Given the description of an element on the screen output the (x, y) to click on. 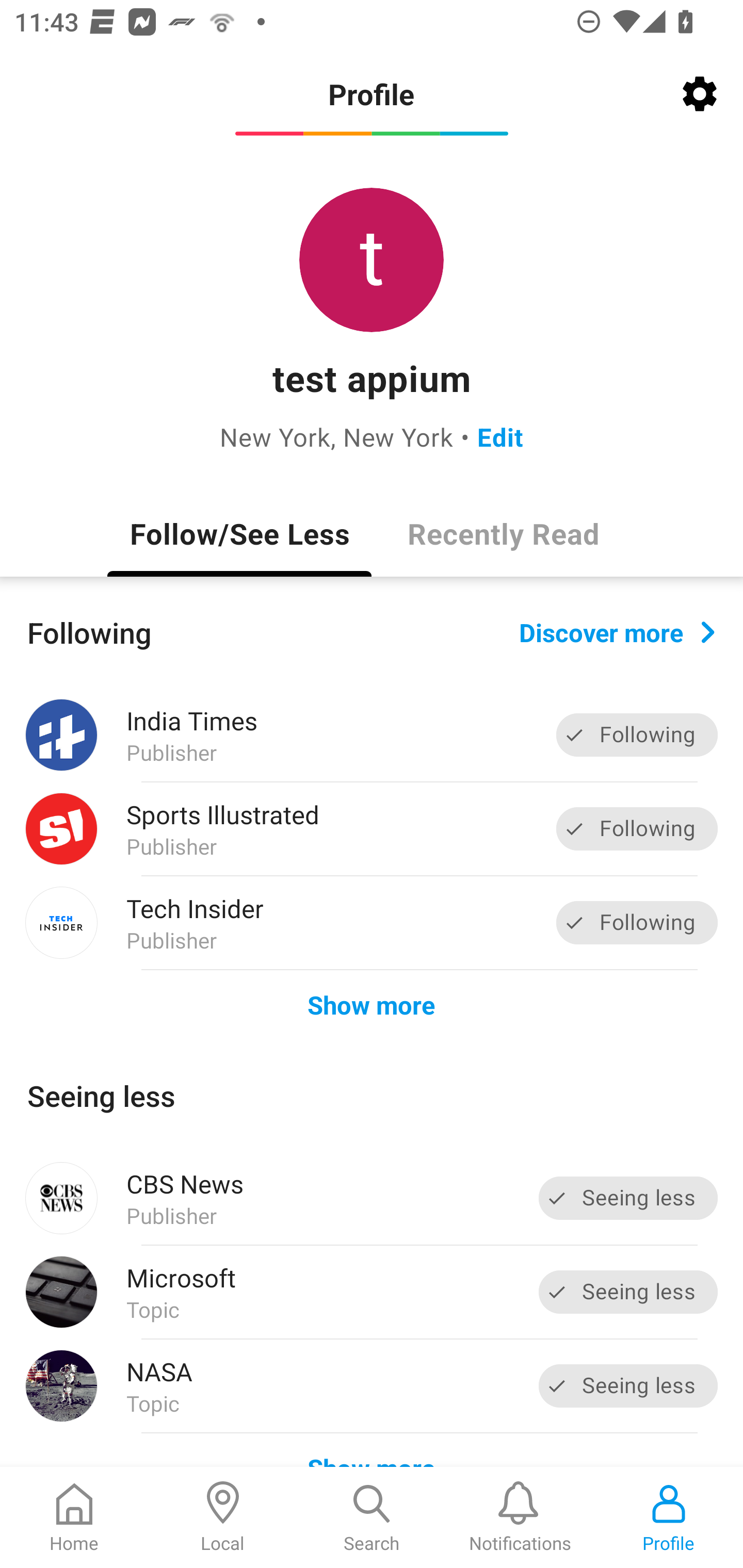
Settings (699, 93)
Edit (500, 436)
Recently Read (503, 533)
Discover more (617, 631)
India Times Publisher Following (371, 735)
Following (636, 735)
Sports Illustrated Publisher Following (371, 829)
Following (636, 828)
Tech Insider Publisher Following (371, 922)
Following (636, 922)
Show more (371, 1004)
CBS News Publisher Seeing less (371, 1197)
Seeing less (627, 1197)
Microsoft Topic Seeing less (371, 1291)
Seeing less (627, 1291)
NASA Topic Seeing less (371, 1386)
Seeing less (627, 1386)
Home (74, 1517)
Local (222, 1517)
Search (371, 1517)
Notifications (519, 1517)
